Given the description of an element on the screen output the (x, y) to click on. 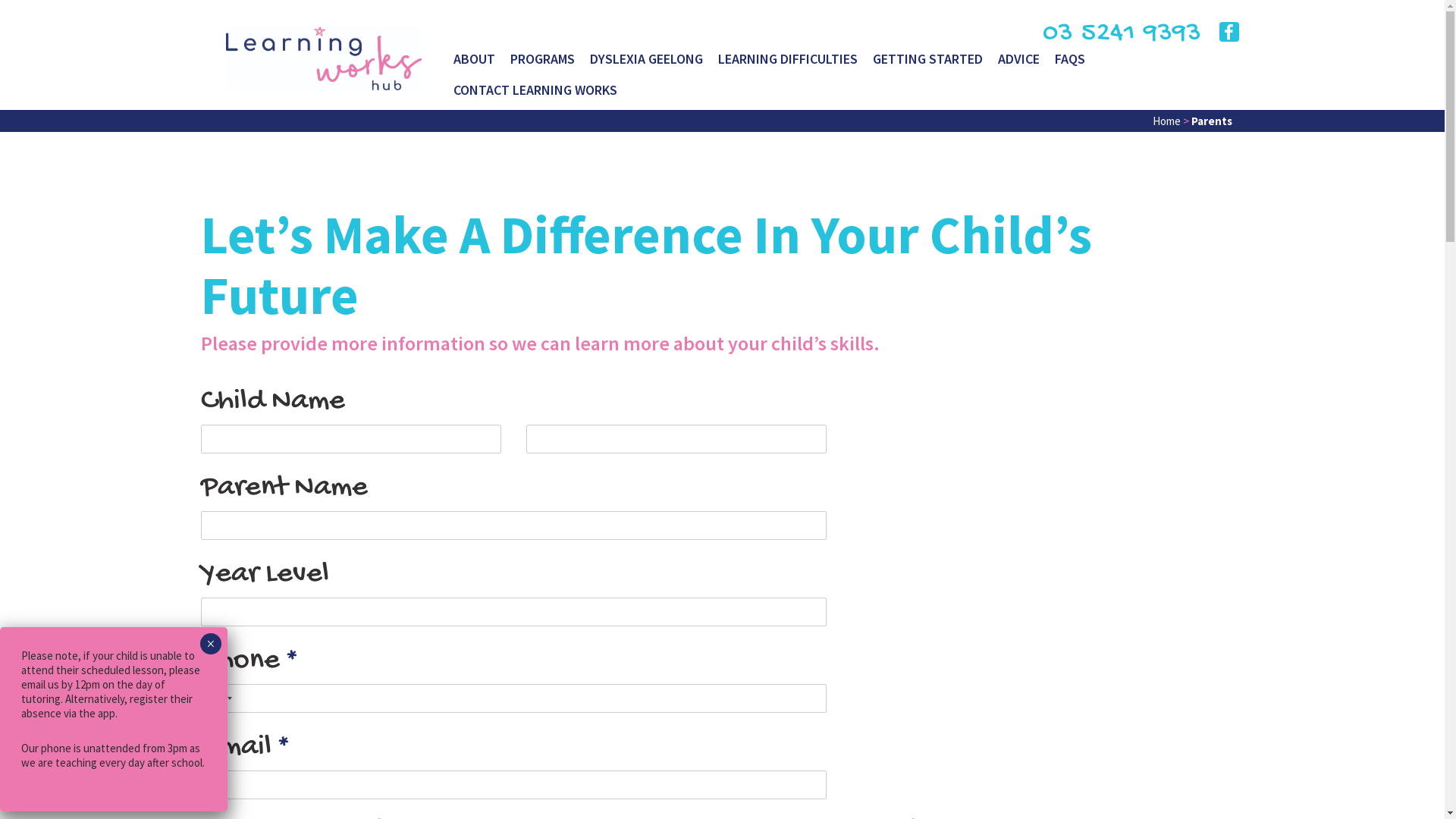
DYSLEXIA GEELONG Element type: text (645, 62)
ADVICE Element type: text (1018, 62)
FAQS Element type: text (1069, 62)
ABOUT Element type: text (474, 62)
CONTACT LEARNING WORKS Element type: text (535, 93)
LEARNING DIFFICULTIES Element type: text (787, 62)
03 5241 9393 Element type: text (1121, 33)
GETTING STARTED Element type: text (927, 62)
PROGRAMS Element type: text (542, 62)
Home Element type: text (1166, 120)
